Given the description of an element on the screen output the (x, y) to click on. 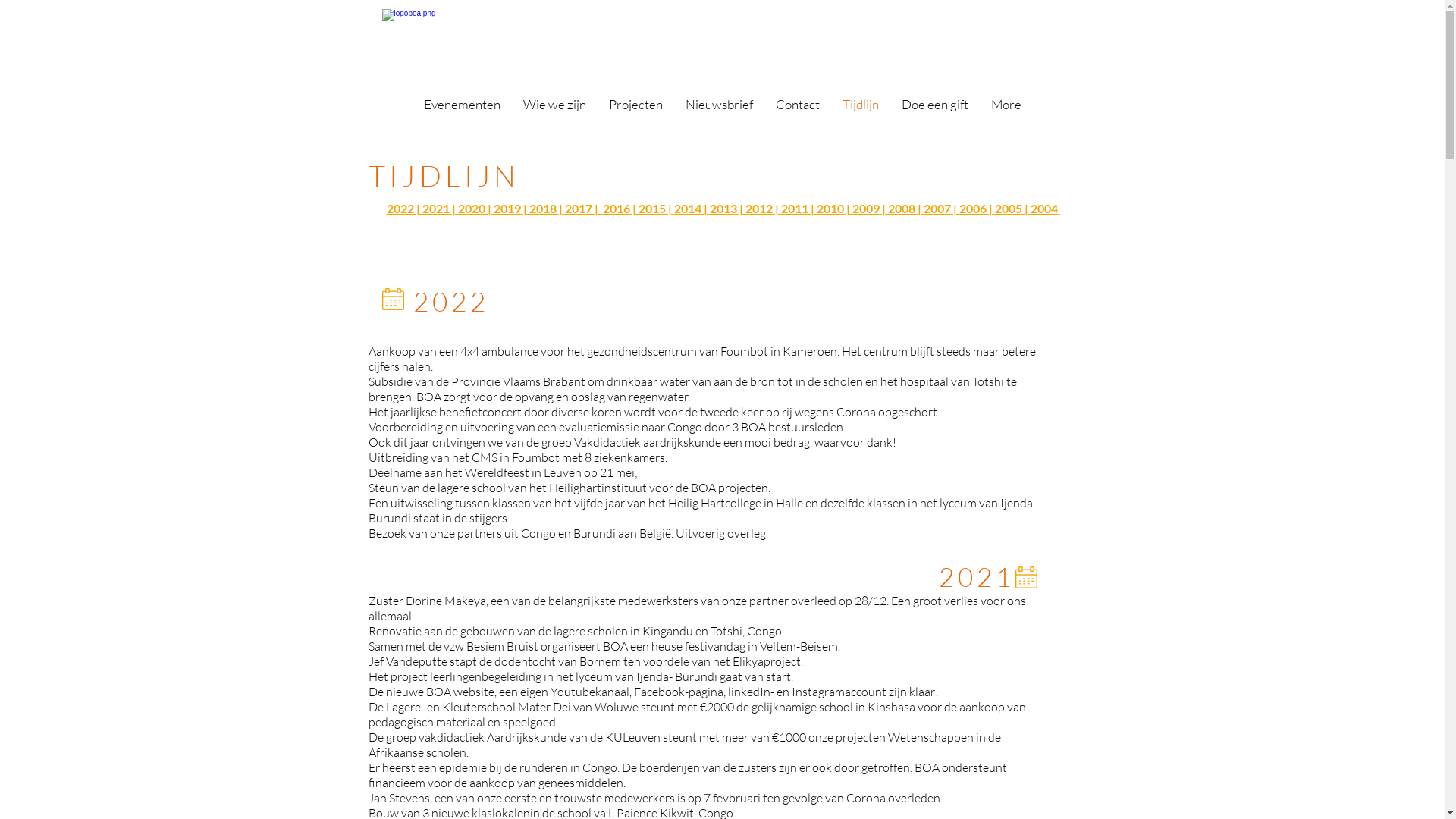
Wie we zijn Element type: text (553, 110)
2011 Element type: text (794, 207)
2009 Element type: text (865, 207)
2007 Element type: text (936, 207)
Contact Element type: text (797, 110)
2012 Element type: text (757, 207)
2022 Element type: text (400, 207)
Projecten Element type: text (635, 110)
2018 Element type: text (542, 207)
2021 Element type: text (434, 207)
2020 Element type: text (471, 207)
Tijdlijn Element type: text (860, 110)
2019 Element type: text (506, 207)
2016 Element type: text (615, 207)
2004 Element type: text (1043, 207)
2017 Element type: text (577, 207)
Evenementen Element type: text (461, 110)
2013 Element type: text (723, 207)
2006 Element type: text (971, 207)
2010 Element type: text (829, 207)
2014 Element type: text (686, 207)
Doe een gift Element type: text (934, 110)
2008 Element type: text (900, 207)
2015 Element type: text (651, 207)
Nieuwsbrief Element type: text (718, 110)
2005 Element type: text (1008, 207)
